Given the description of an element on the screen output the (x, y) to click on. 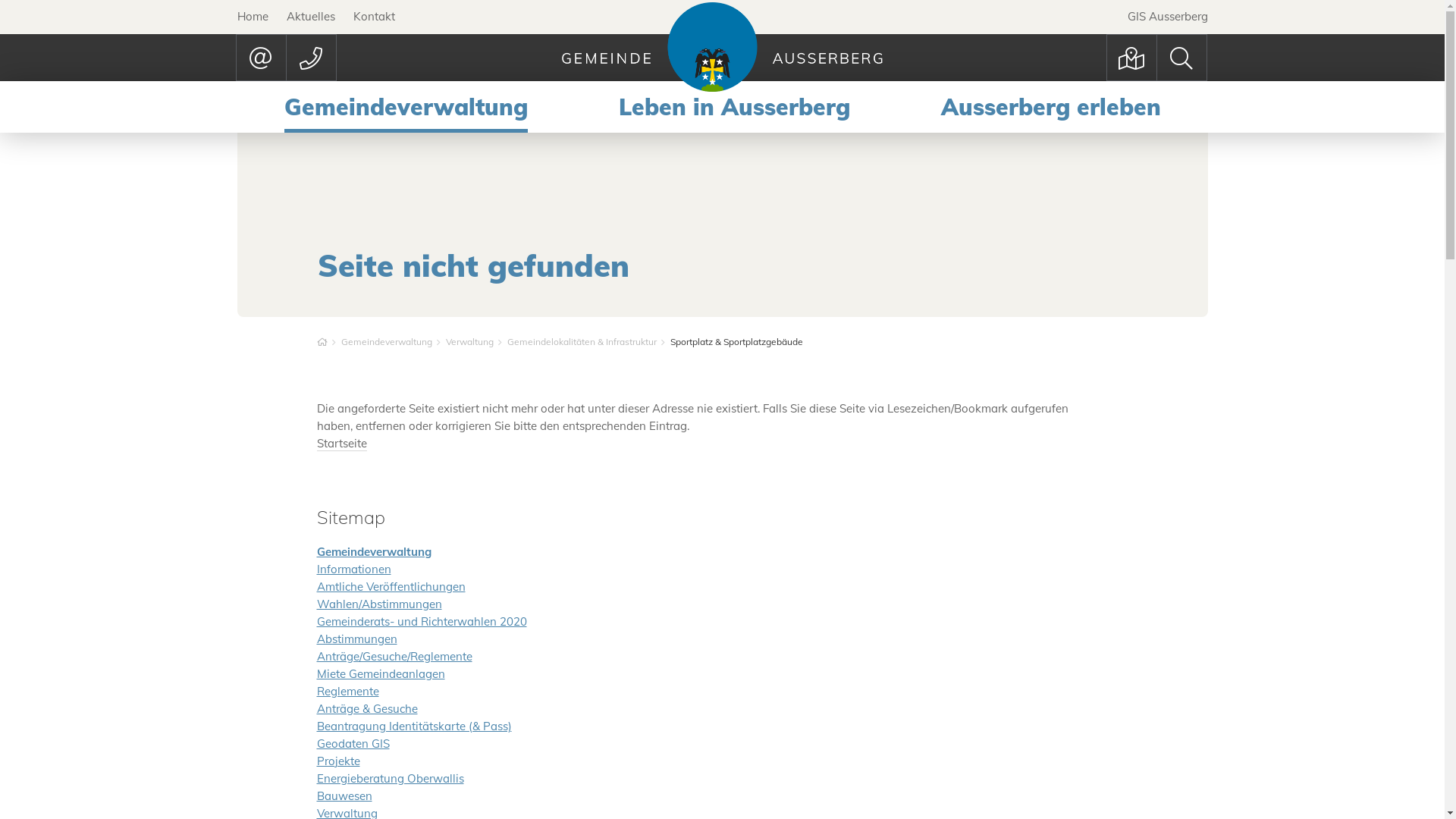
Reglemente Element type: text (347, 691)
Aktuelles Element type: text (310, 16)
Projekte Element type: text (338, 760)
Kontakt Element type: text (374, 16)
Home Element type: text (251, 16)
Verwaltung Element type: text (469, 341)
Leben in Ausserberg Element type: text (734, 106)
Wahlen/Abstimmungen Element type: text (379, 603)
Gemeindeverwaltung Element type: text (373, 551)
Informationen Element type: text (353, 568)
Abstimmungen Element type: text (356, 638)
Gemeinderats- und Richterwahlen 2020 Element type: text (421, 621)
Miete Gemeindeanlagen Element type: text (380, 673)
Gemeindeverwaltung Element type: text (405, 106)
GIS Ausserberg Element type: text (1166, 16)
Startseite Element type: text (341, 443)
Gemeindeverwaltung Element type: text (386, 341)
Energieberatung Oberwallis Element type: text (390, 778)
Geodaten GIS Element type: text (352, 743)
Bauwesen Element type: text (344, 795)
Ausserberg erleben Element type: text (1050, 106)
